Given the description of an element on the screen output the (x, y) to click on. 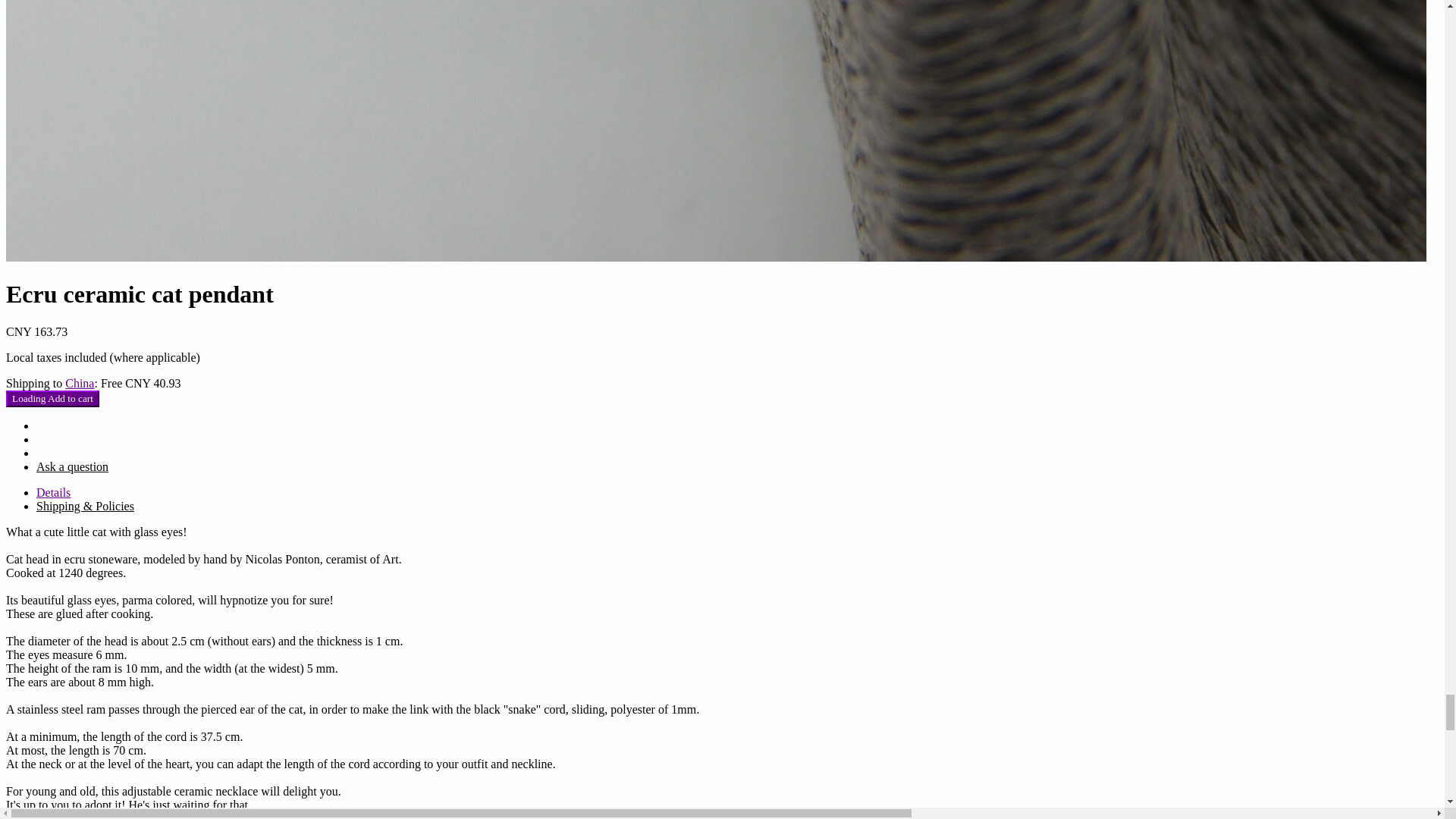
Ask a question (71, 466)
Loading Add to cart (52, 398)
Details (52, 492)
China (79, 382)
